Given the description of an element on the screen output the (x, y) to click on. 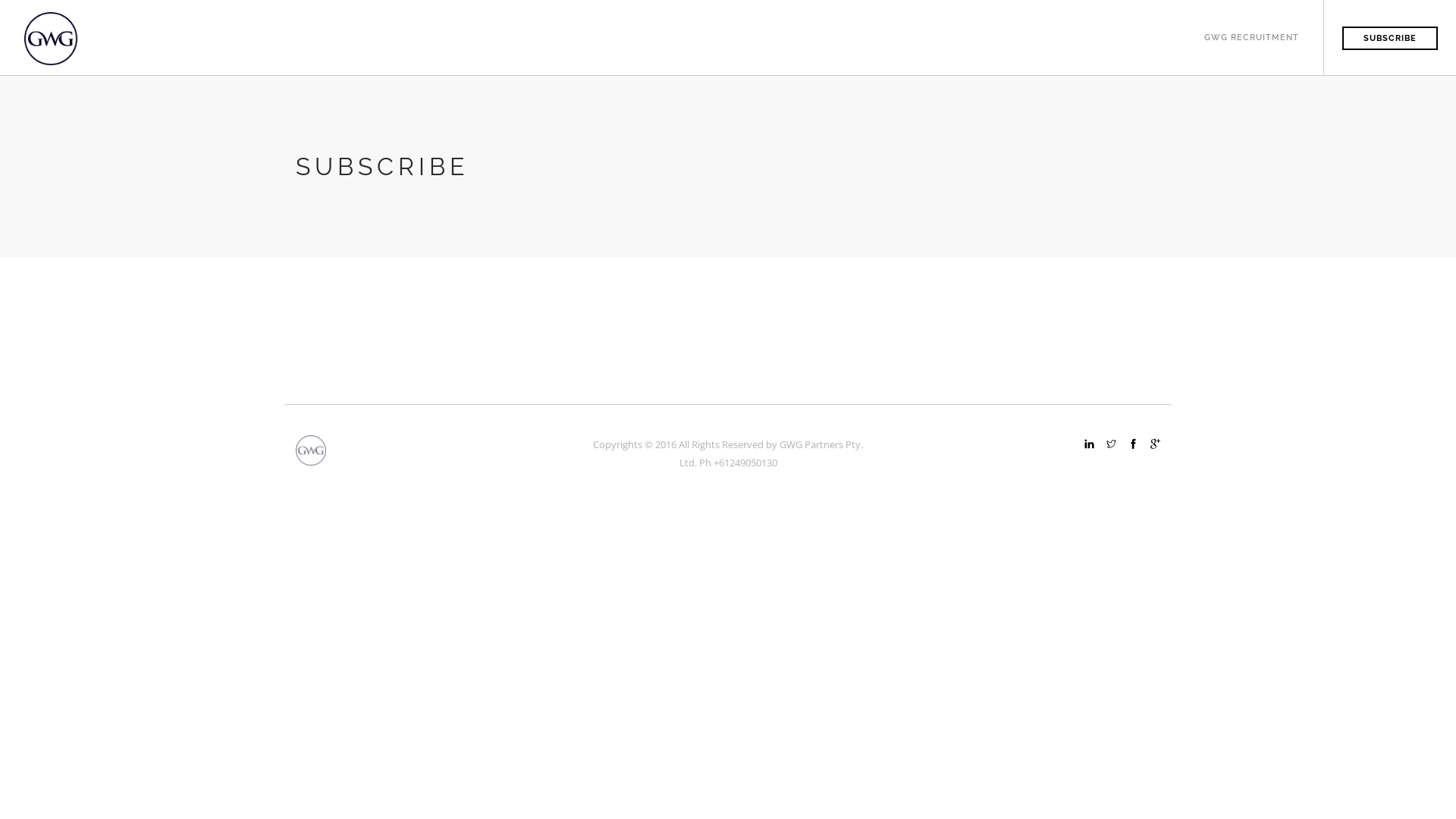
GWG RECRUITMENT Element type: text (1251, 21)
SUBSCRIBE Element type: text (1389, 38)
